Given the description of an element on the screen output the (x, y) to click on. 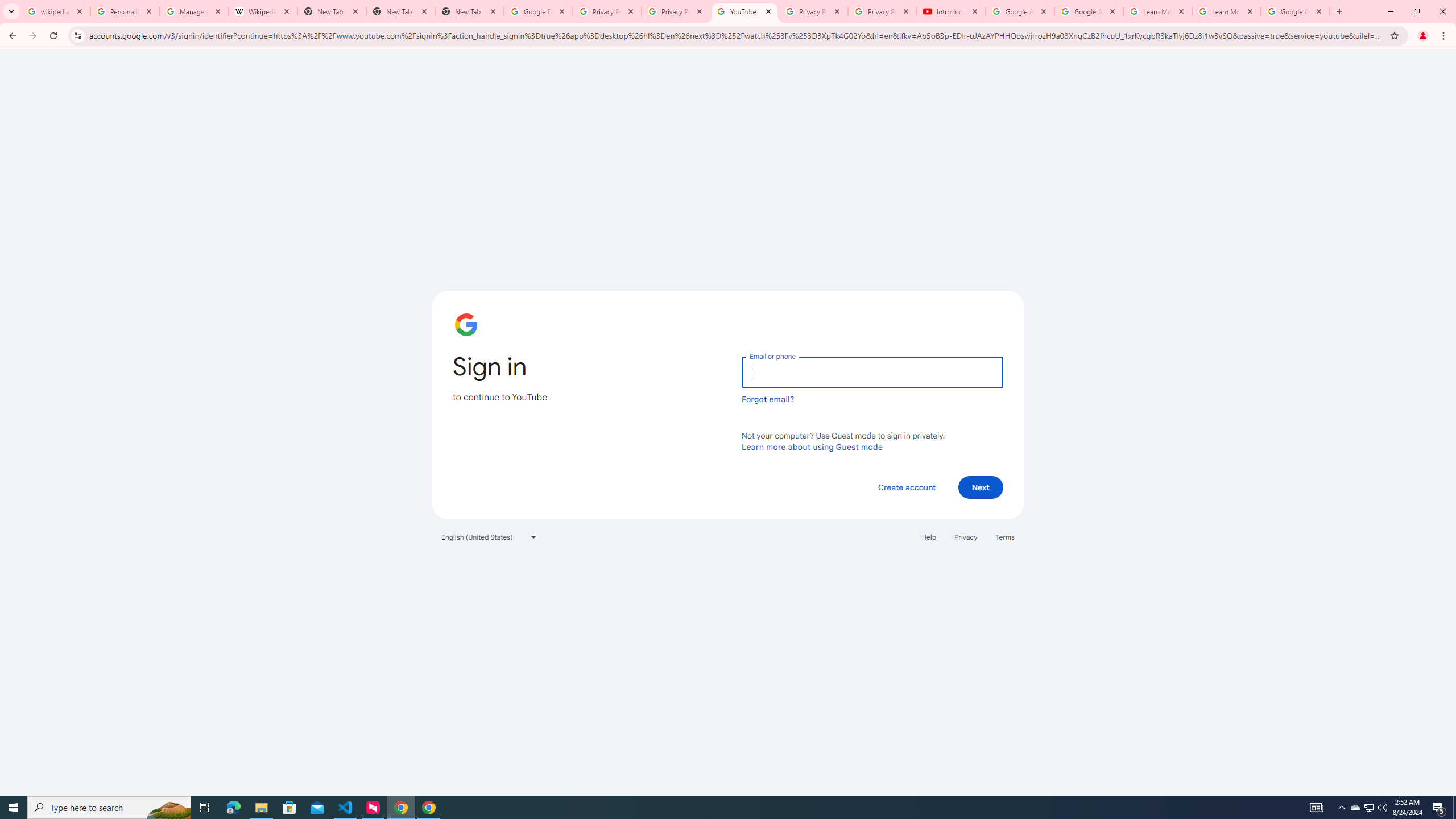
Forgot email? (767, 398)
Email or phone (871, 372)
Learn more about using Guest mode (812, 446)
Manage your Location History - Google Search Help (194, 11)
Google Account Help (1019, 11)
Google Account Help (1088, 11)
